Given the description of an element on the screen output the (x, y) to click on. 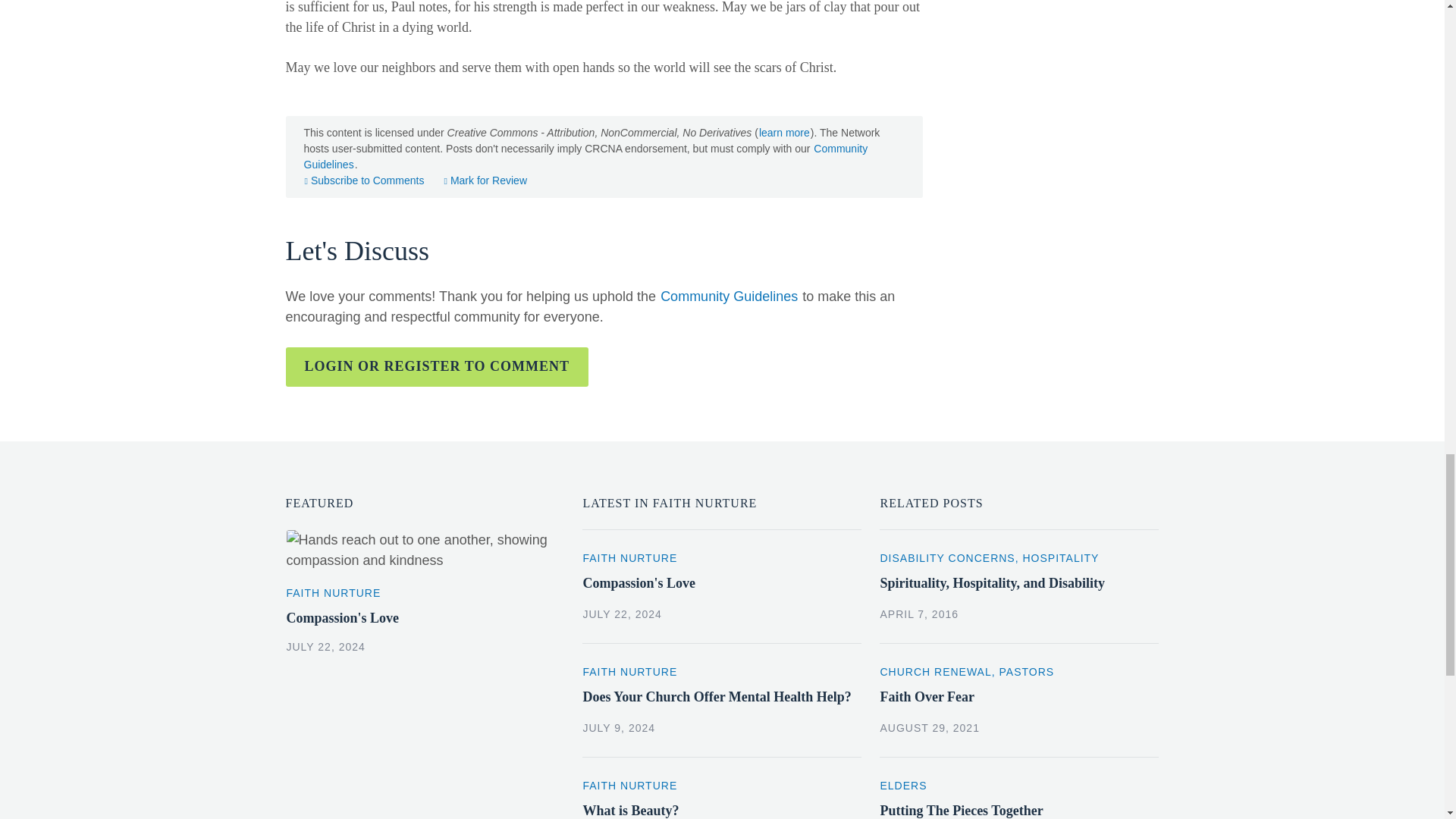
Community Guidelines (584, 156)
LOGIN OR REGISTER TO COMMENT (436, 366)
Mark for Review (424, 599)
Community Guidelines (484, 180)
Subscribe to Comments (728, 296)
learn more (363, 180)
